Given the description of an element on the screen output the (x, y) to click on. 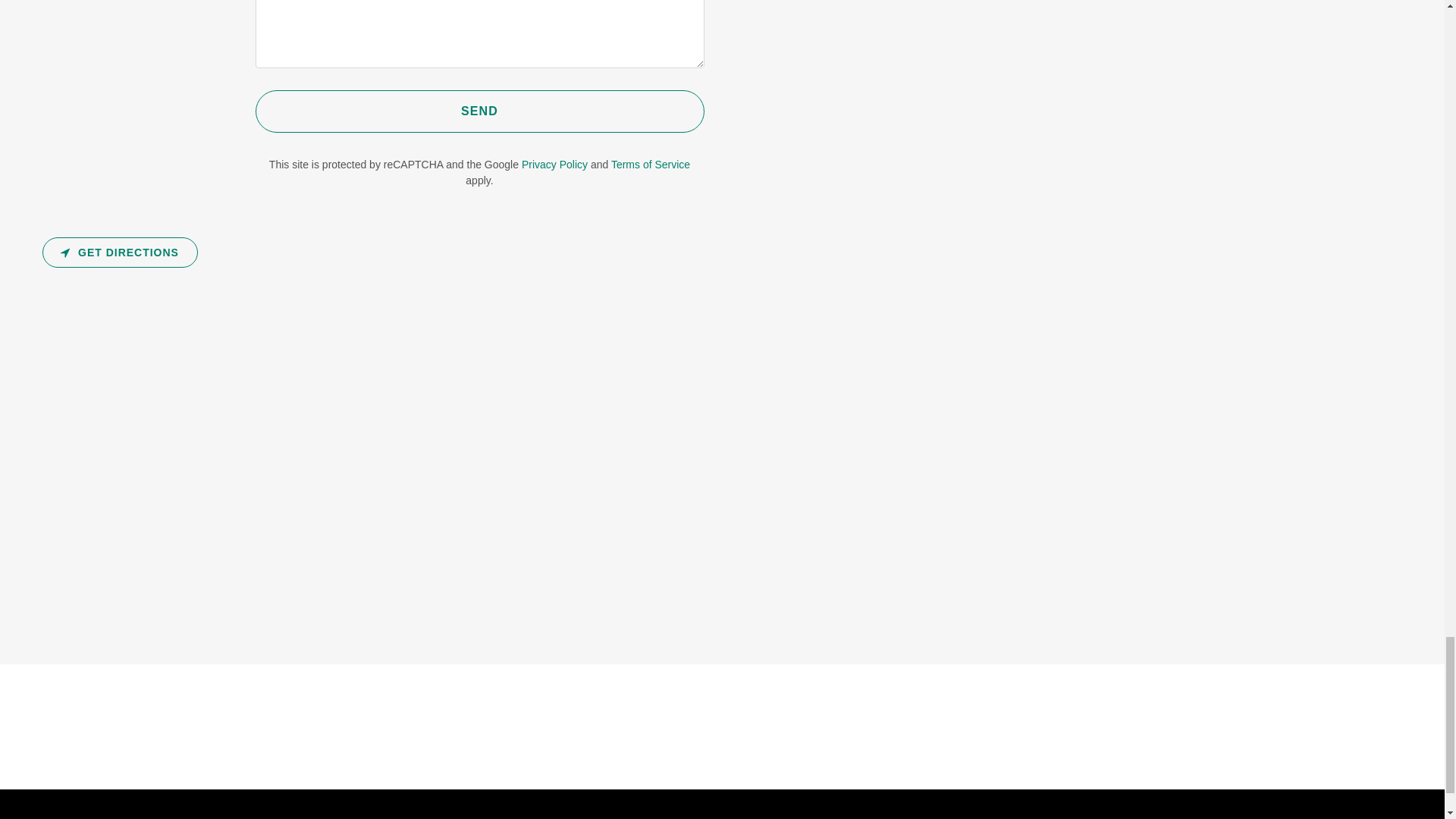
SEND (478, 111)
GET DIRECTIONS (120, 252)
Terms of Service (650, 164)
Privacy Policy (554, 164)
